Given the description of an element on the screen output the (x, y) to click on. 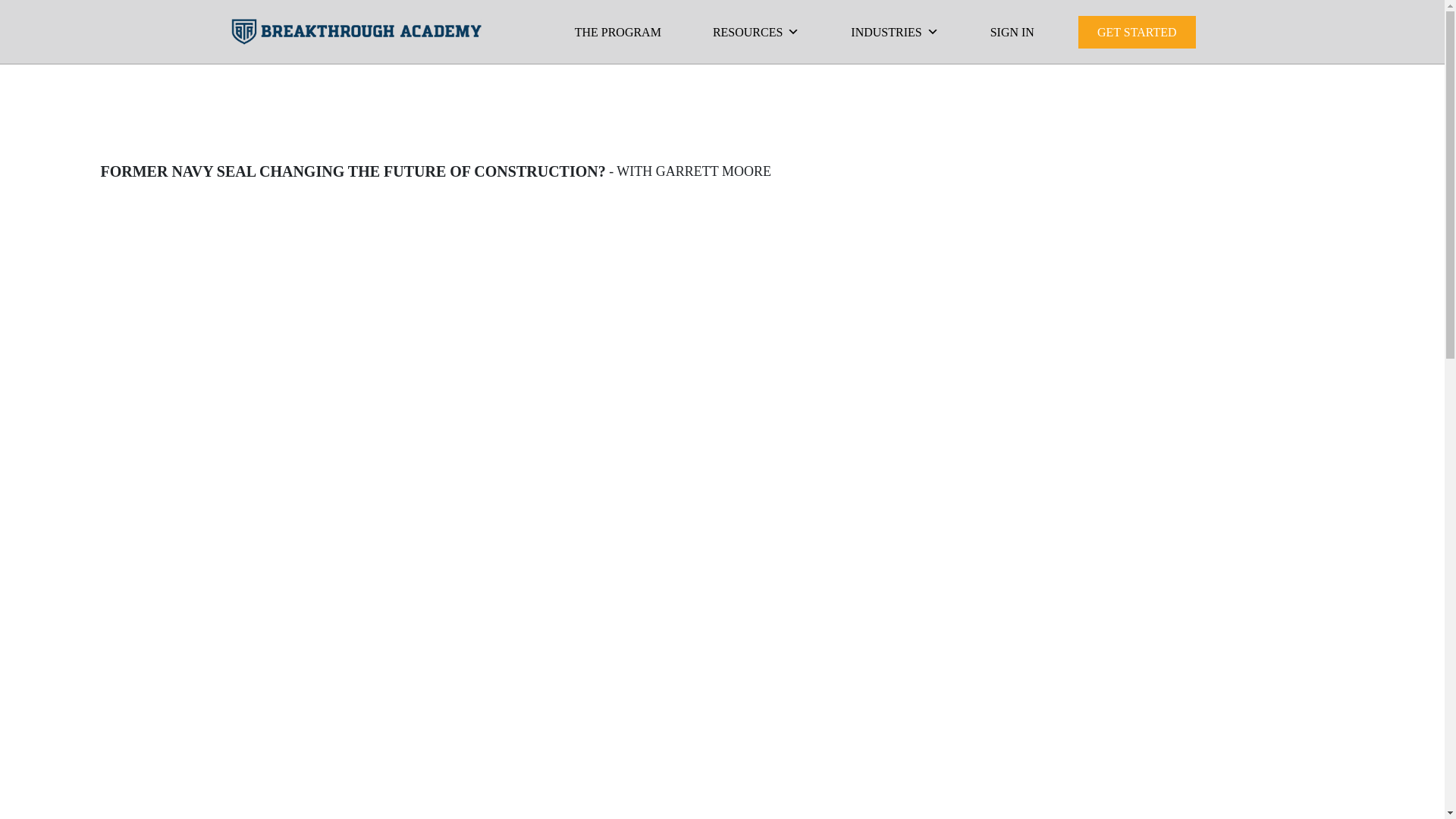
RESOURCES (755, 32)
SIGN IN (1012, 32)
GET STARTED (1136, 31)
THE PROGRAM (617, 32)
INDUSTRIES (893, 32)
